Given the description of an element on the screen output the (x, y) to click on. 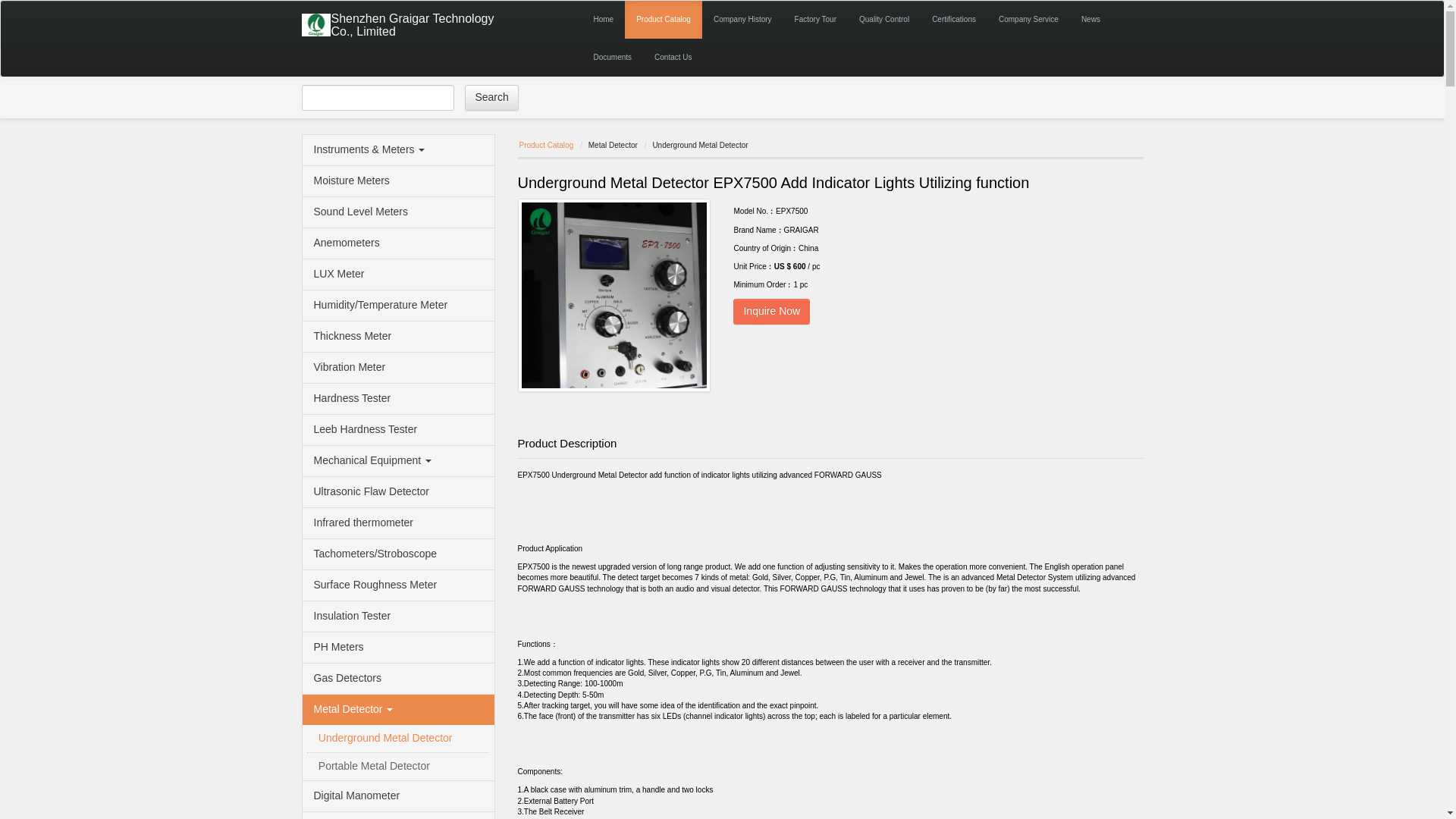
Anemometers (397, 243)
Shenzhen Graigar Technology Co., Limited (420, 22)
Moisture Meters (397, 181)
Company History (742, 19)
Company History (742, 19)
Contact Us (673, 57)
Hardness Tester (397, 399)
Leeb Hardness Tester (397, 429)
Metal Detector  (397, 709)
Documents (612, 57)
